Given the description of an element on the screen output the (x, y) to click on. 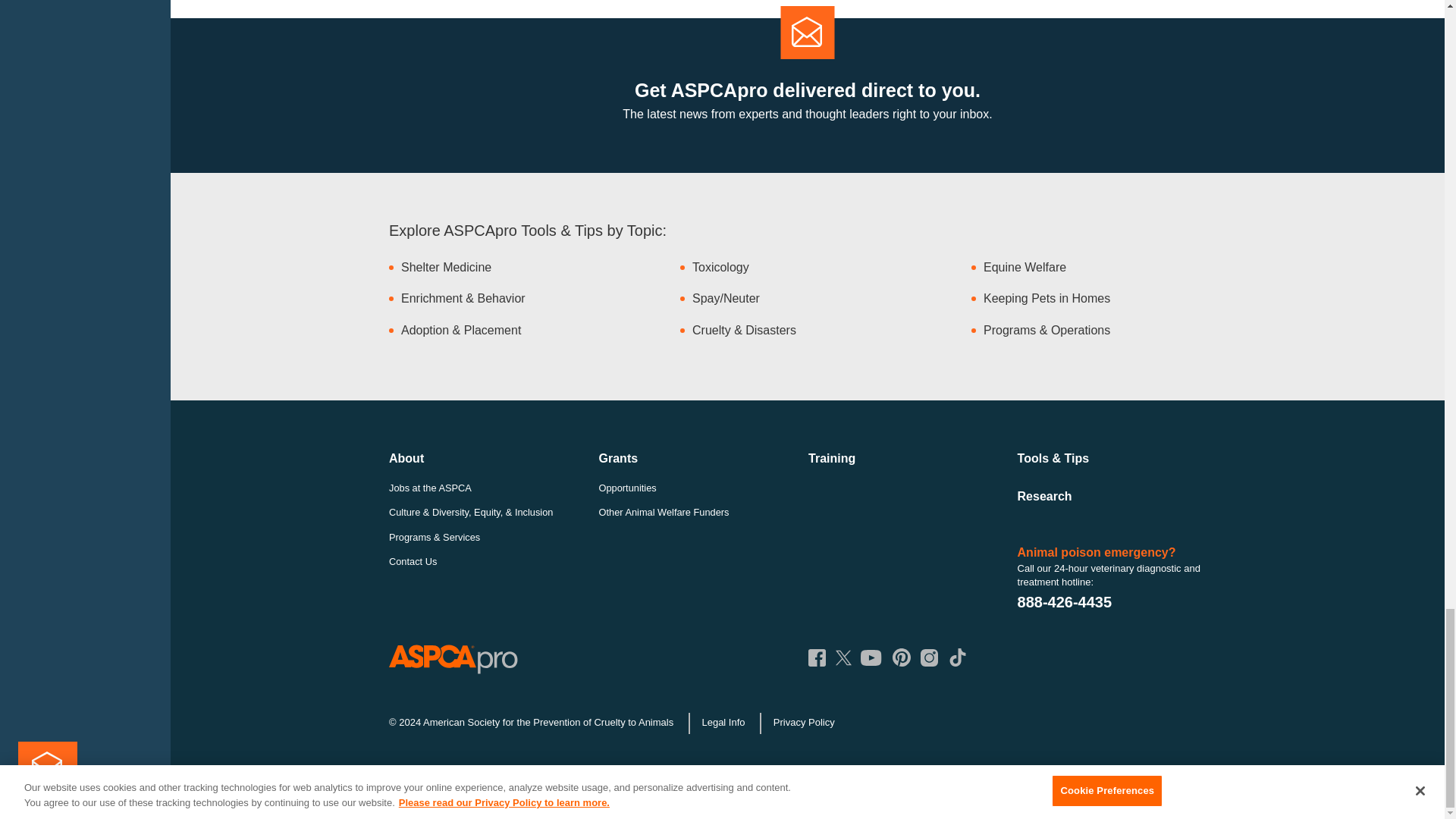
Facebook (816, 657)
Twitter (843, 657)
Instagram (928, 657)
YouTube (871, 657)
Pinterest (901, 657)
